Given the description of an element on the screen output the (x, y) to click on. 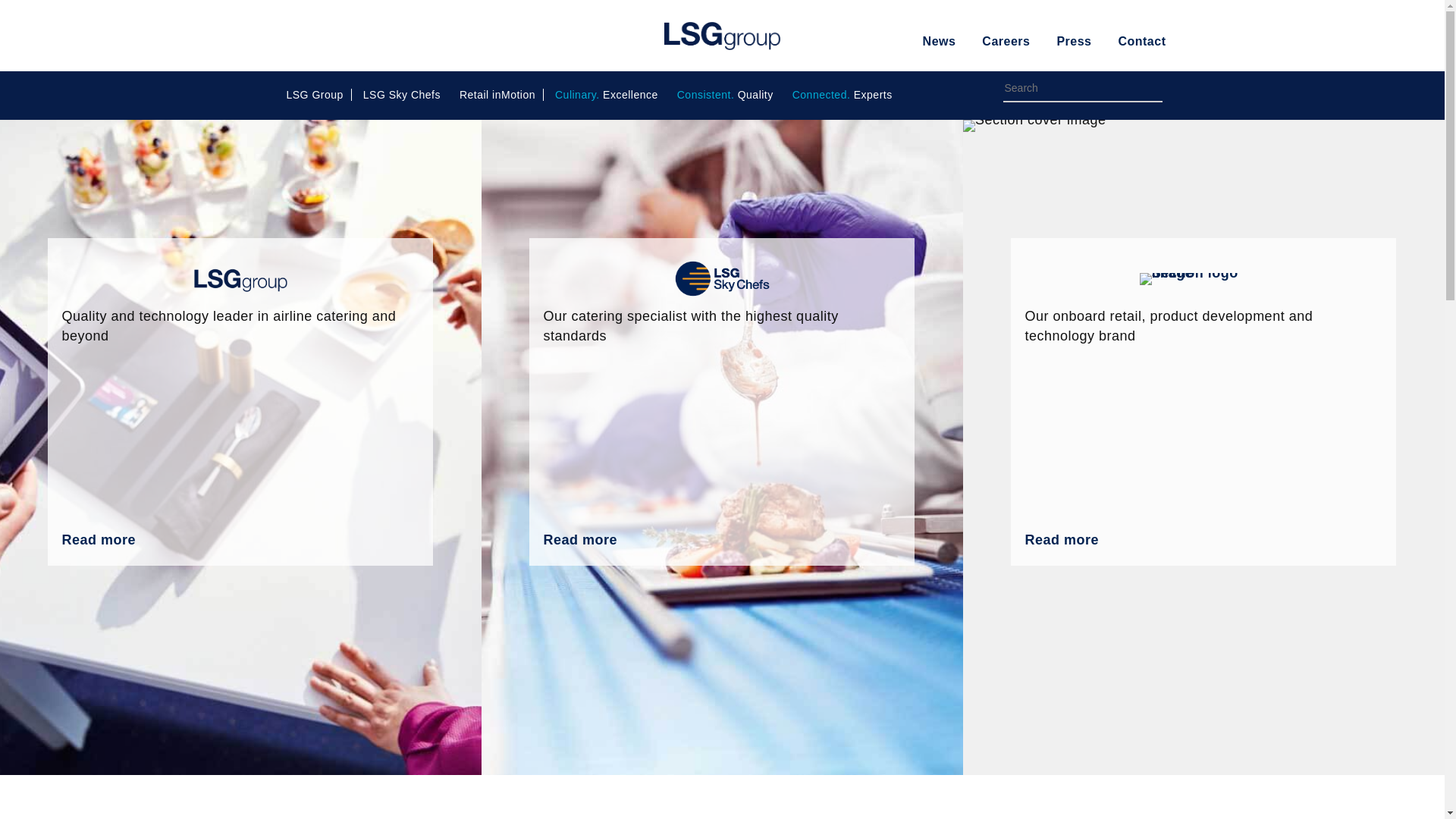
Consistent. Quality (724, 94)
Contact (1142, 41)
Press (1073, 41)
LSG Sky Chefs (401, 94)
LSG Group (721, 35)
Careers (1005, 41)
LSG Group (315, 94)
Retail inMotion (497, 94)
News (939, 41)
Culinary. Excellence (606, 94)
